Given the description of an element on the screen output the (x, y) to click on. 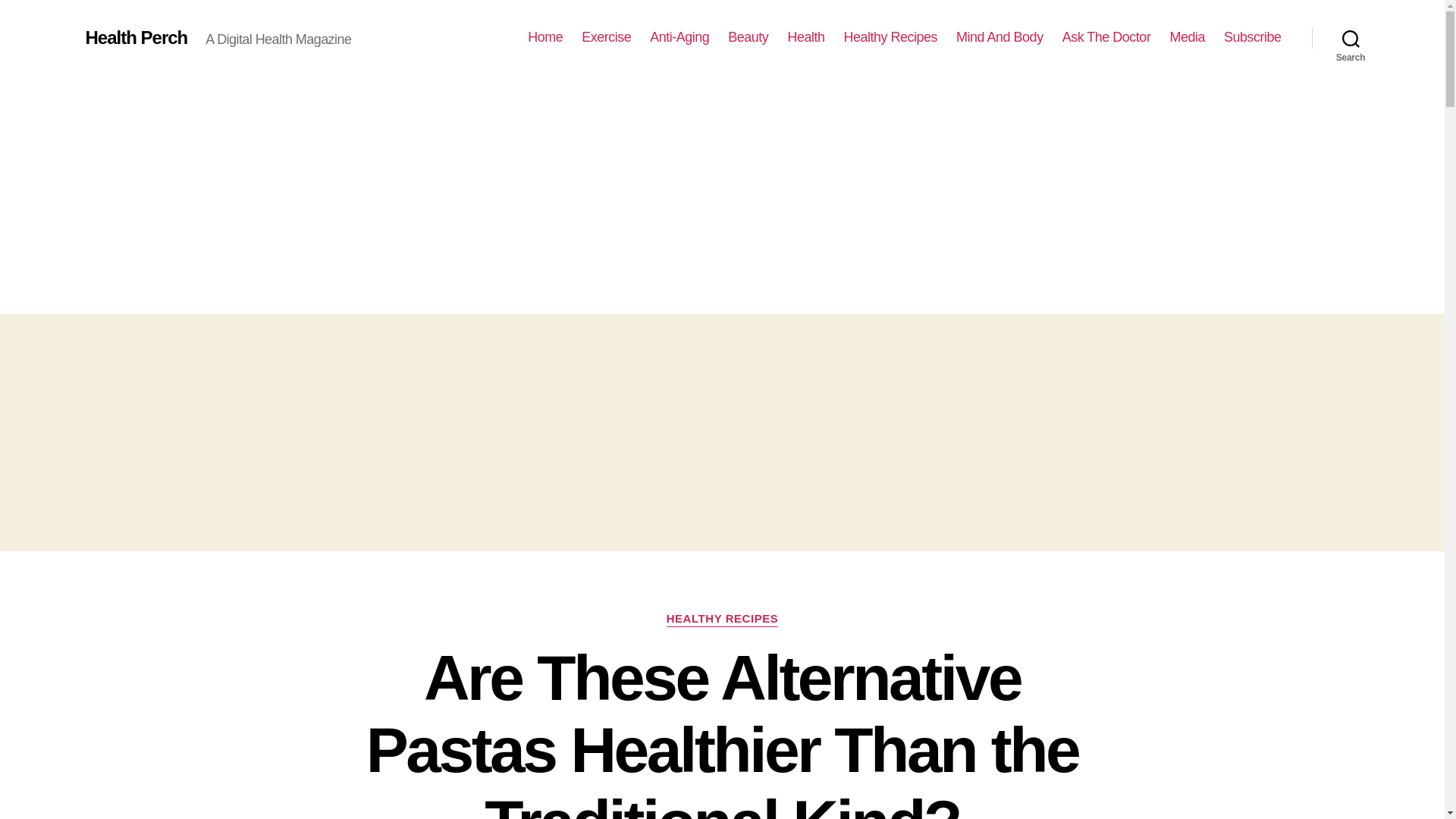
Anti-Aging (679, 37)
Healthy Recipes (890, 37)
Exercise (605, 37)
Beauty (748, 37)
Home (544, 37)
Ask The Doctor (1106, 37)
Health (805, 37)
Media (1187, 37)
Health Perch (135, 37)
Mind And Body (999, 37)
